Given the description of an element on the screen output the (x, y) to click on. 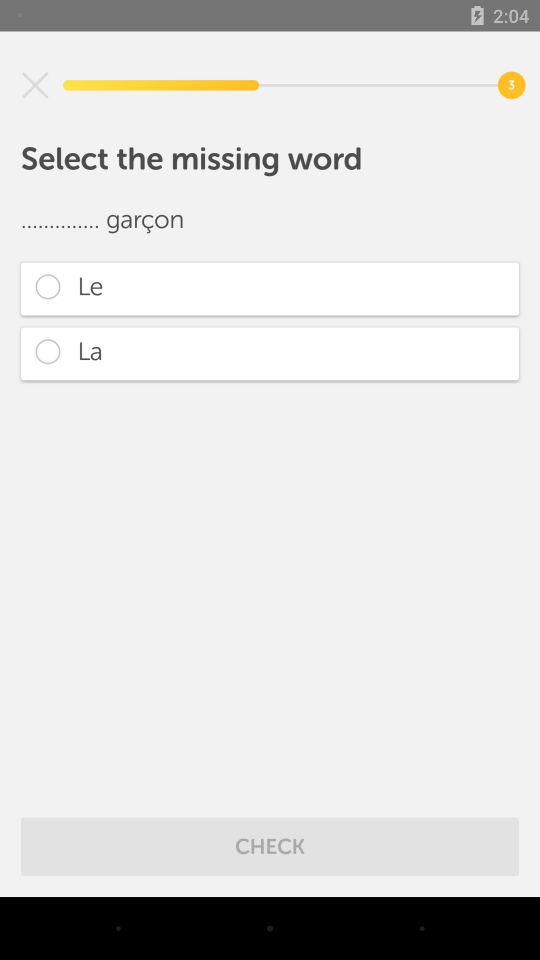
press le icon (270, 288)
